Given the description of an element on the screen output the (x, y) to click on. 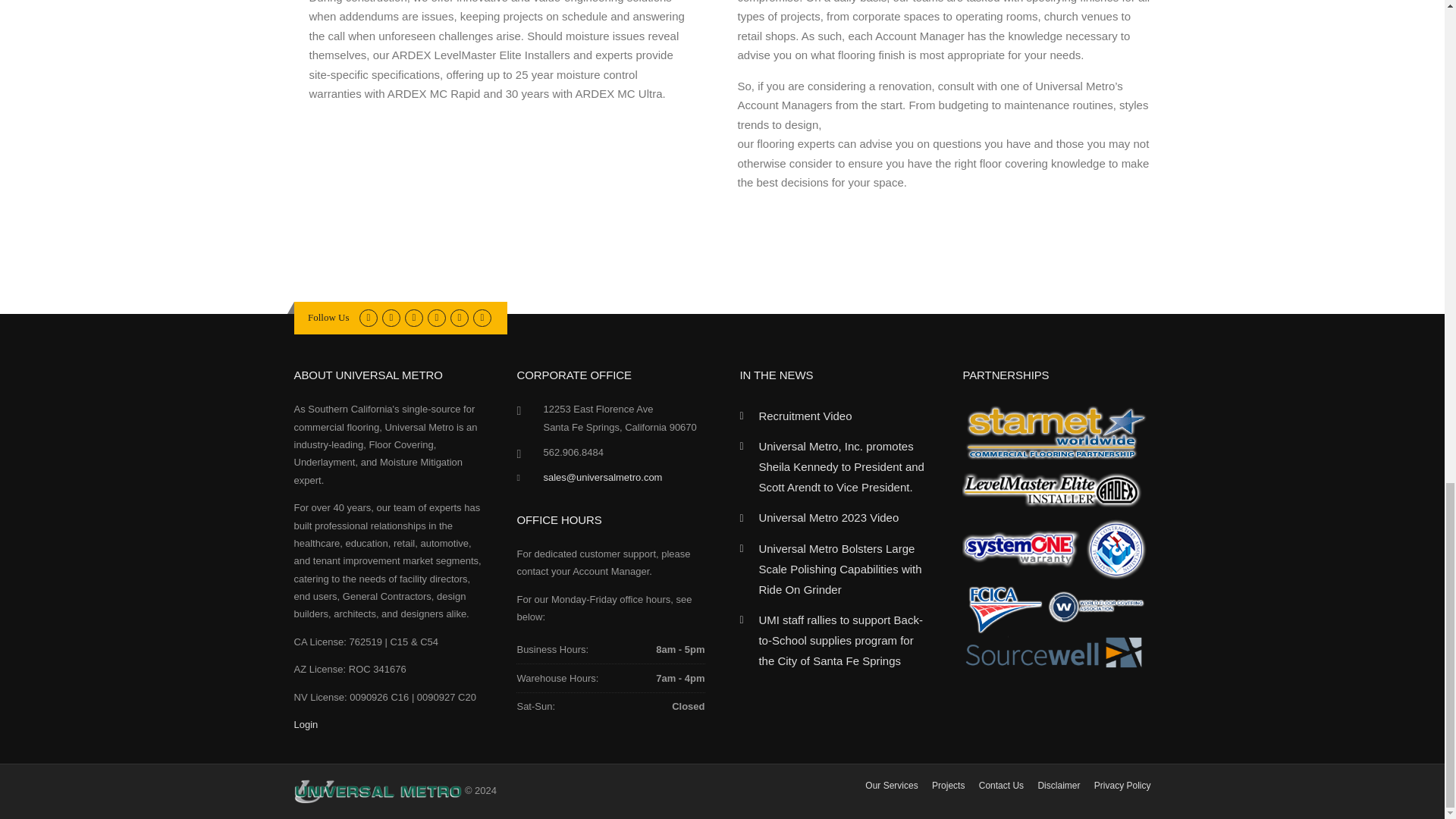
Email (481, 317)
Facebook (389, 317)
Linkedin (413, 317)
Instagram (458, 317)
Login (306, 724)
Pinterest (436, 317)
Twitter (368, 317)
Recruitment Video (804, 415)
